Given the description of an element on the screen output the (x, y) to click on. 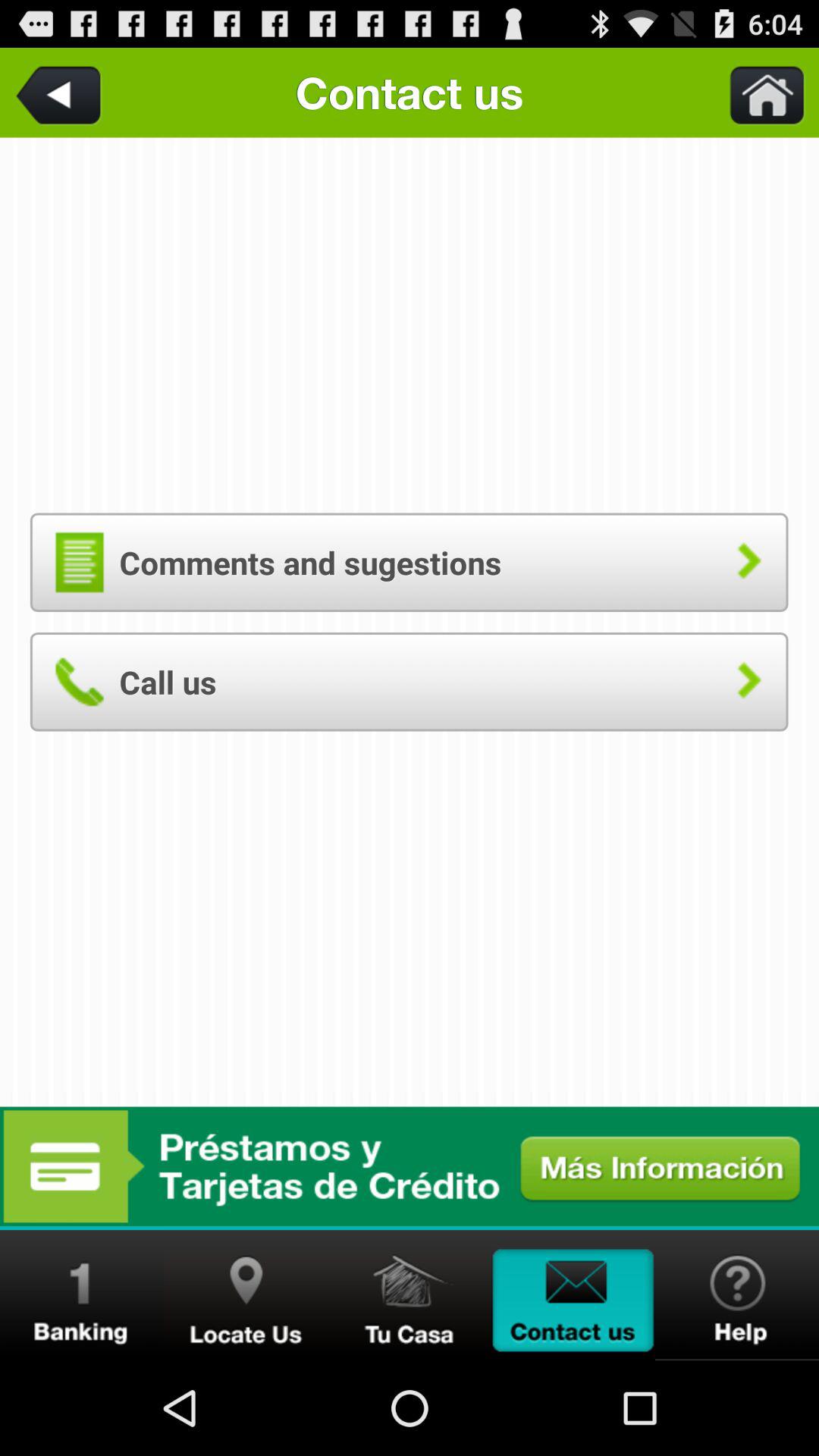
select the item to the right of the contact us (757, 92)
